Given the description of an element on the screen output the (x, y) to click on. 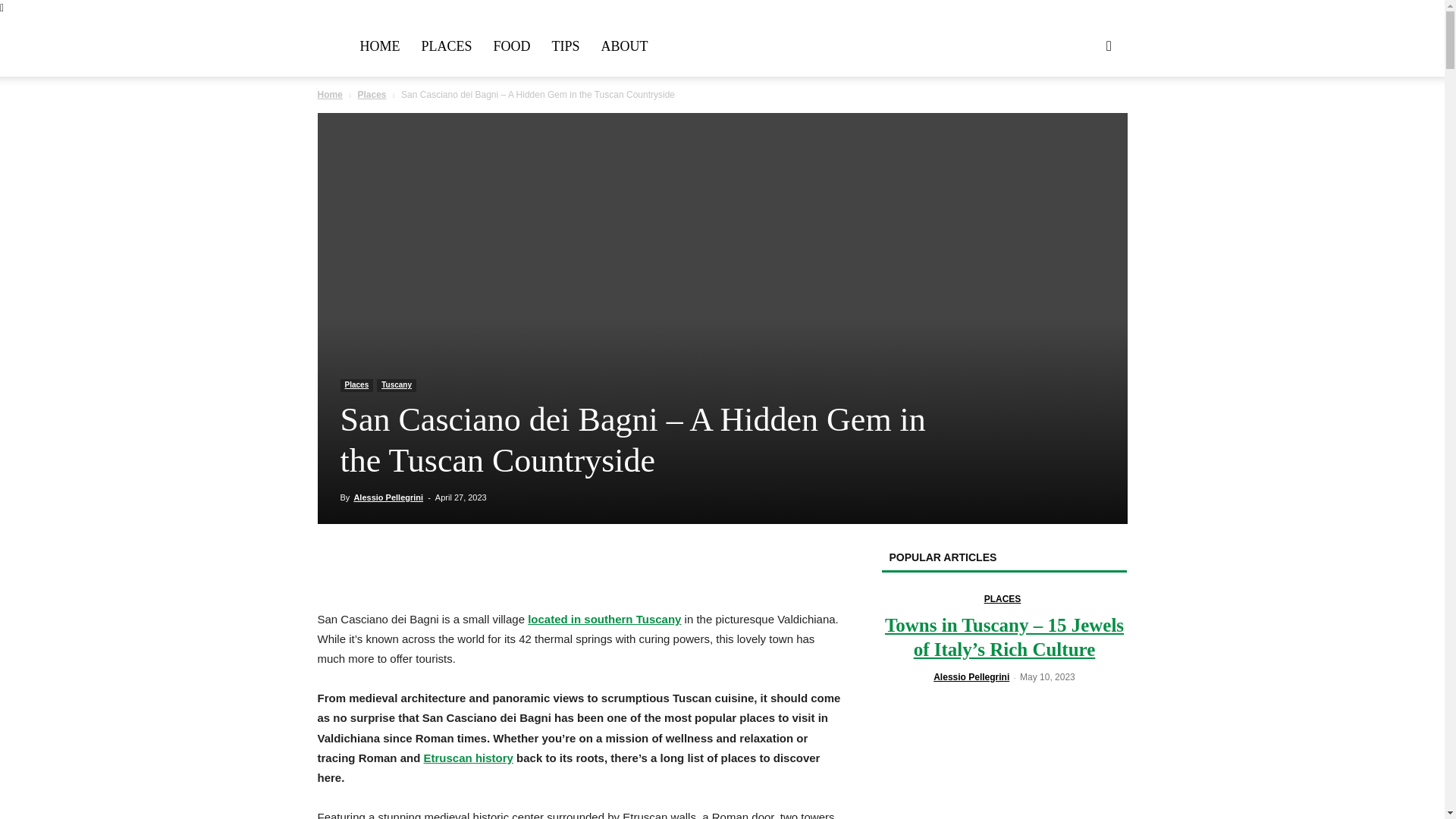
FOOD (512, 45)
Search (1085, 119)
HOME (379, 45)
PLACES (446, 45)
